Given the description of an element on the screen output the (x, y) to click on. 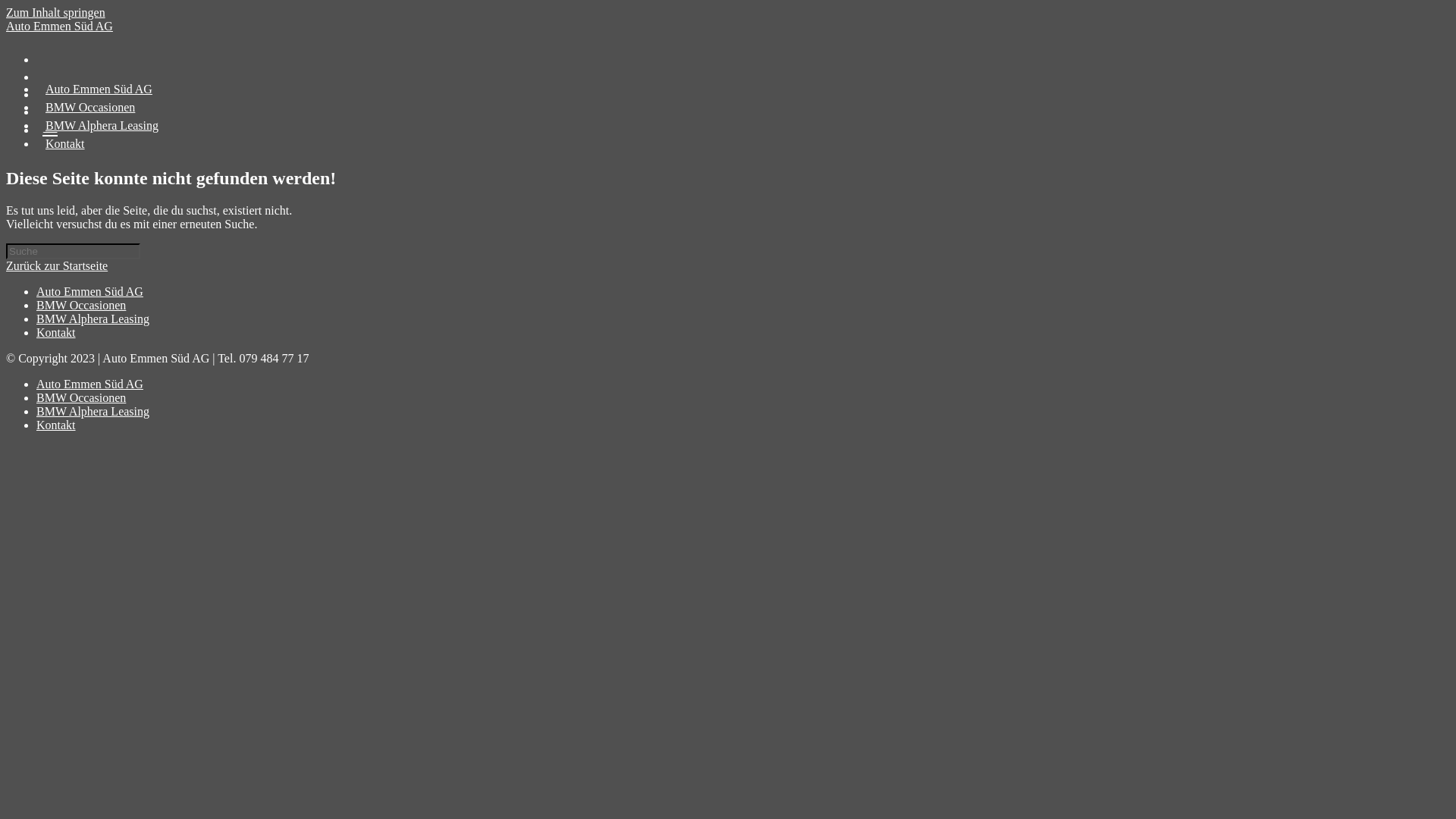
BMW Occasionen Element type: text (80, 397)
BMW Alphera Leasing Element type: text (92, 318)
Kontakt Element type: text (55, 332)
BMW Alphera Leasing Element type: text (92, 410)
Kontakt Element type: text (65, 143)
Kontakt Element type: text (55, 424)
BMW Alphera Leasing Element type: text (101, 125)
BMW Occasionen Element type: text (80, 304)
Zum Inhalt springen Element type: text (55, 12)
BMW Occasionen Element type: text (90, 106)
